Given the description of an element on the screen output the (x, y) to click on. 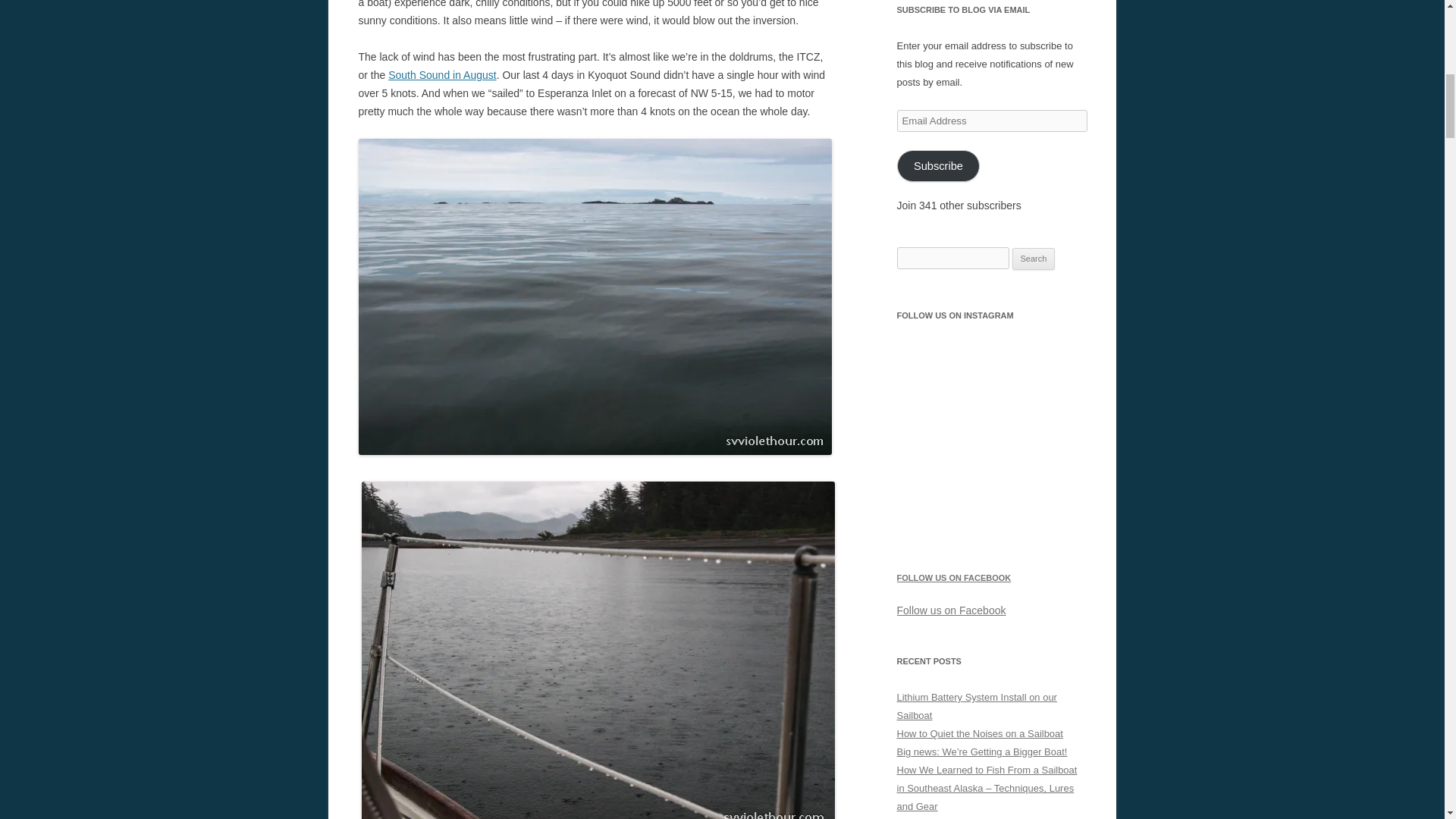
Follow us on Facebook (951, 610)
FOLLOW US ON FACEBOOK (953, 577)
Search (1033, 259)
Search (1033, 259)
Subscribe (937, 165)
South Sound in August (442, 74)
